Given the description of an element on the screen output the (x, y) to click on. 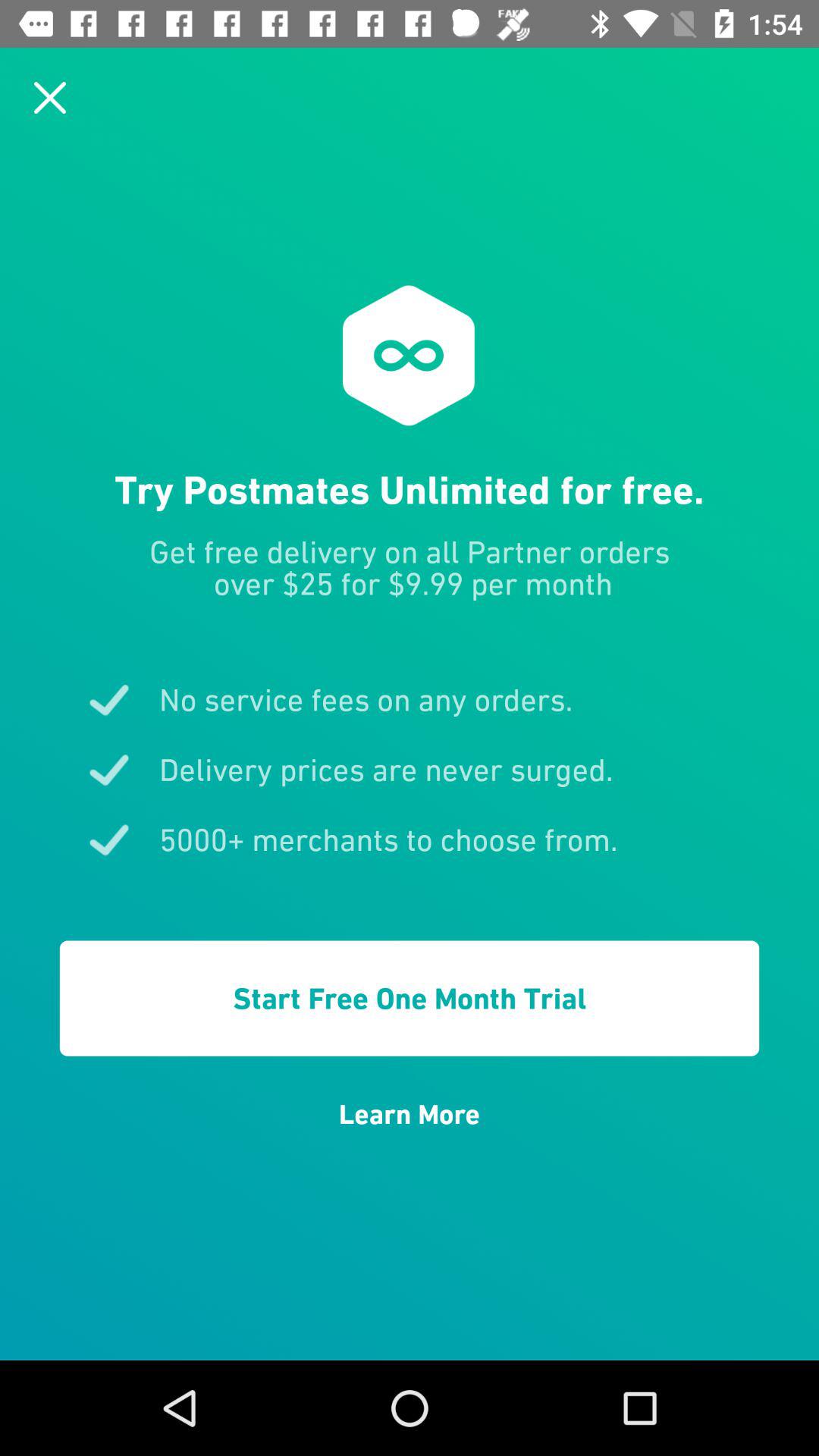
turn off item below the start free one item (409, 1113)
